Given the description of an element on the screen output the (x, y) to click on. 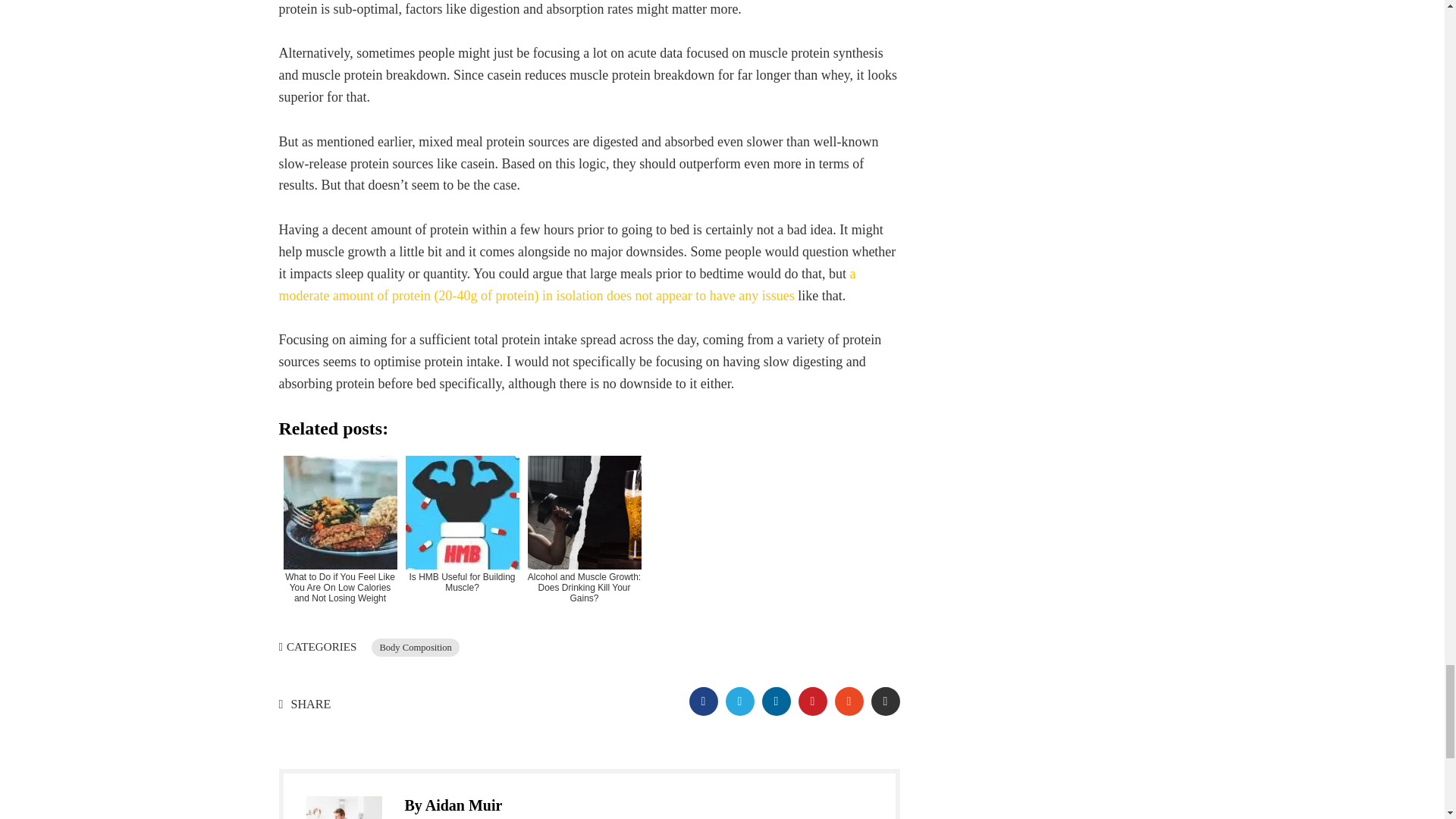
Body Composition (415, 647)
FACEBOOK (702, 701)
LINKEDIN (775, 701)
TWITTER (739, 701)
